Given the description of an element on the screen output the (x, y) to click on. 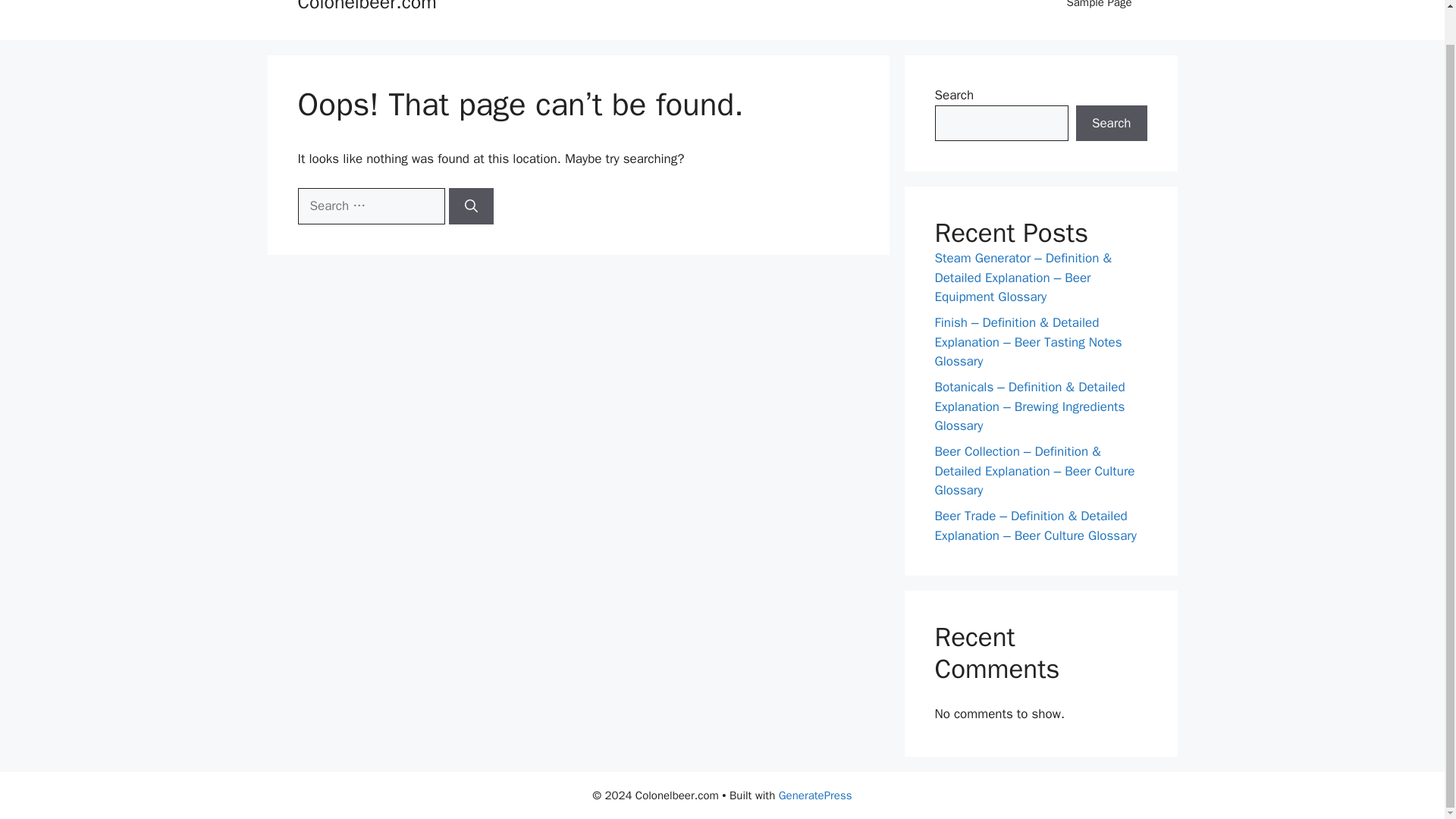
Search for: (370, 206)
Sample Page (1099, 12)
Search (1111, 123)
GeneratePress (814, 795)
Colonelbeer.com (366, 6)
